Given the description of an element on the screen output the (x, y) to click on. 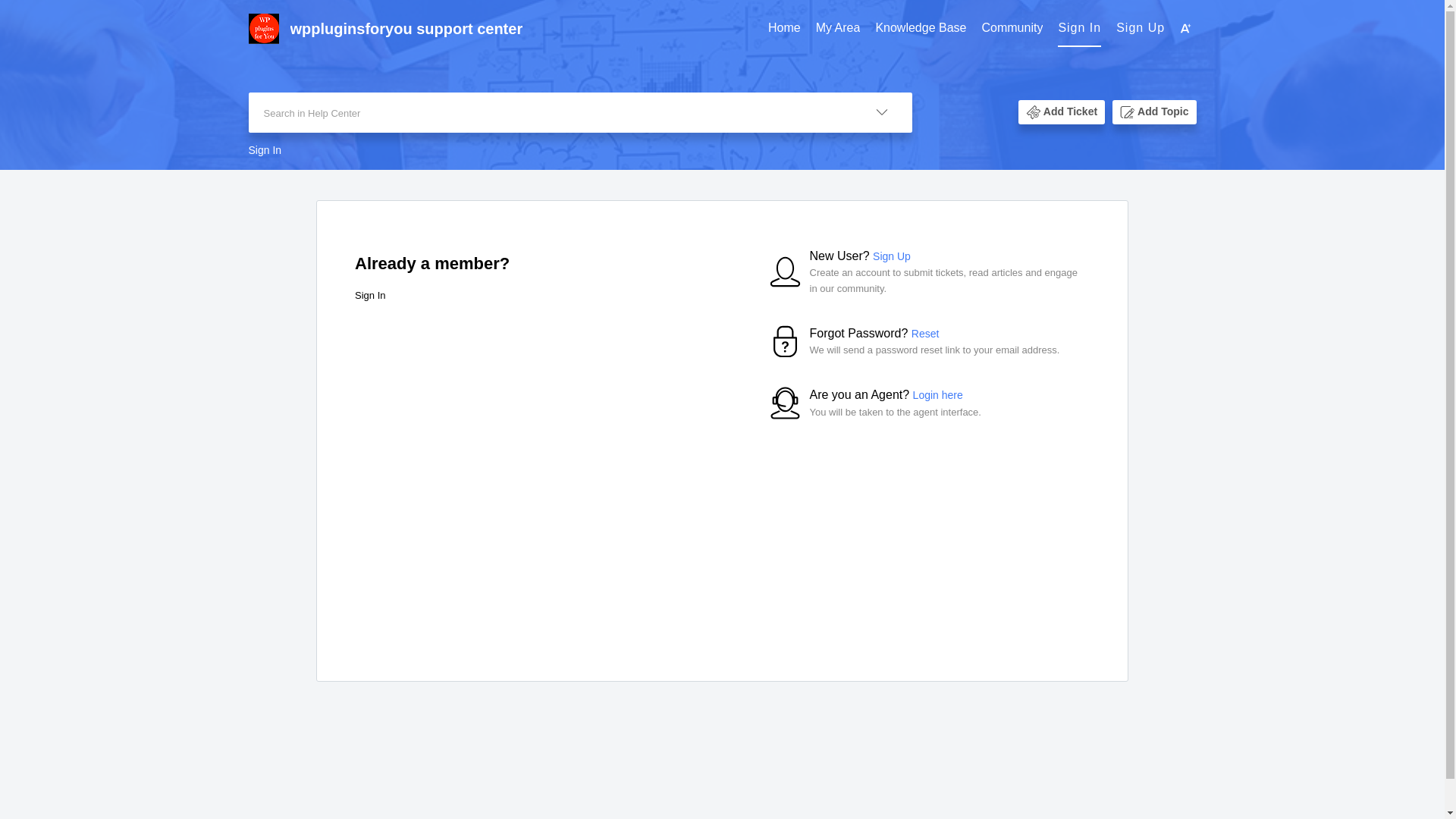
Home (784, 28)
My Area (837, 27)
Community (1011, 28)
Reset (925, 333)
Sign In (1079, 27)
Knowledge Base (920, 27)
wppluginsforyou support center (524, 28)
Add Topic (1162, 111)
Login here (937, 395)
Home (784, 27)
Add Ticket (1061, 111)
Sign Up (891, 256)
Community (1011, 27)
Add Topic (1153, 111)
My Area (837, 28)
